Given the description of an element on the screen output the (x, y) to click on. 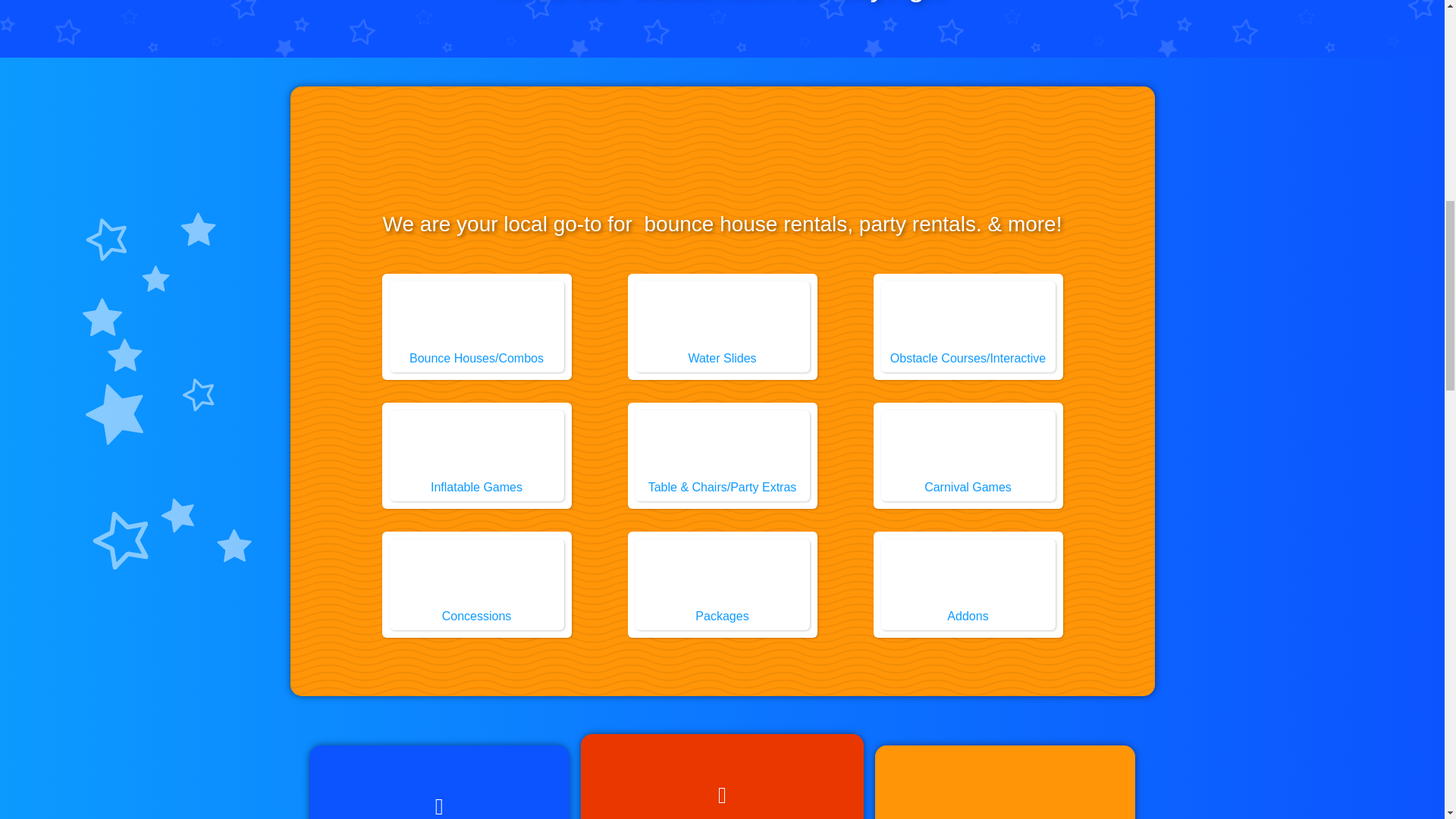
Carnival Games (967, 447)
Packages (722, 616)
Inflatable Games (476, 487)
Packages (721, 577)
Carnival Games (968, 487)
Concessions (476, 616)
Water Slides (722, 358)
Water Slides (721, 319)
Addons (967, 577)
Inflatable Games (475, 447)
